Given the description of an element on the screen output the (x, y) to click on. 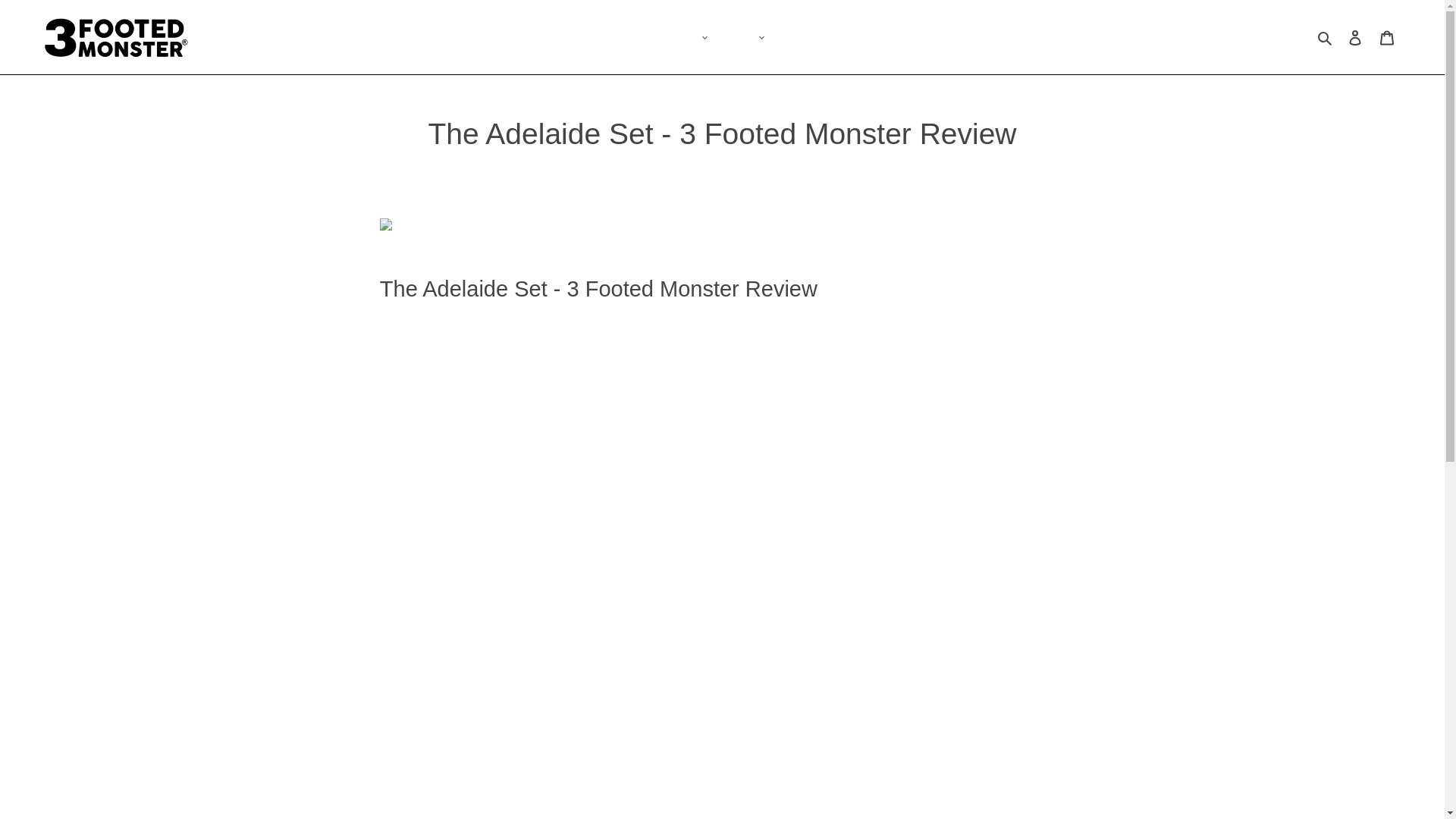
Buscar Element type: text (1325, 36)
Carrito Element type: text (1386, 36)
ABOUT Element type: text (680, 36)
VIDEOS Element type: text (721, 36)
Ingresar Element type: text (1355, 36)
NEWS Element type: text (736, 36)
YouTube video player Element type: hover (721, 607)
SHOP NOW Element type: text (701, 36)
INFO Element type: text (757, 36)
